Given the description of an element on the screen output the (x, y) to click on. 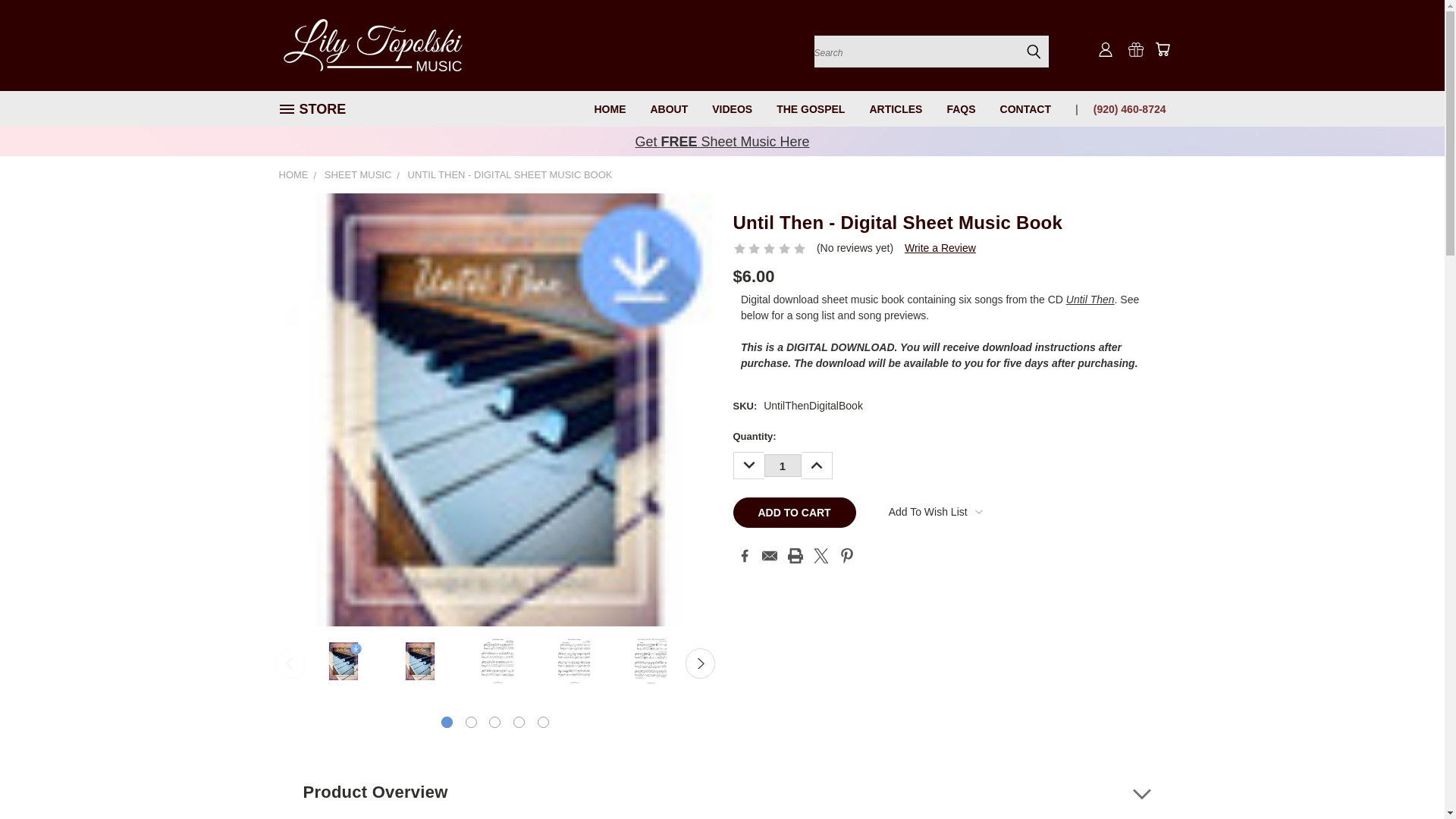
Email (769, 555)
Add to Cart (794, 512)
Print (795, 555)
Twitter (820, 555)
Lily Topolski Music (373, 44)
Pinterest (847, 555)
STORE (318, 109)
Facebook (744, 555)
submit (1033, 51)
1 (783, 465)
